Given the description of an element on the screen output the (x, y) to click on. 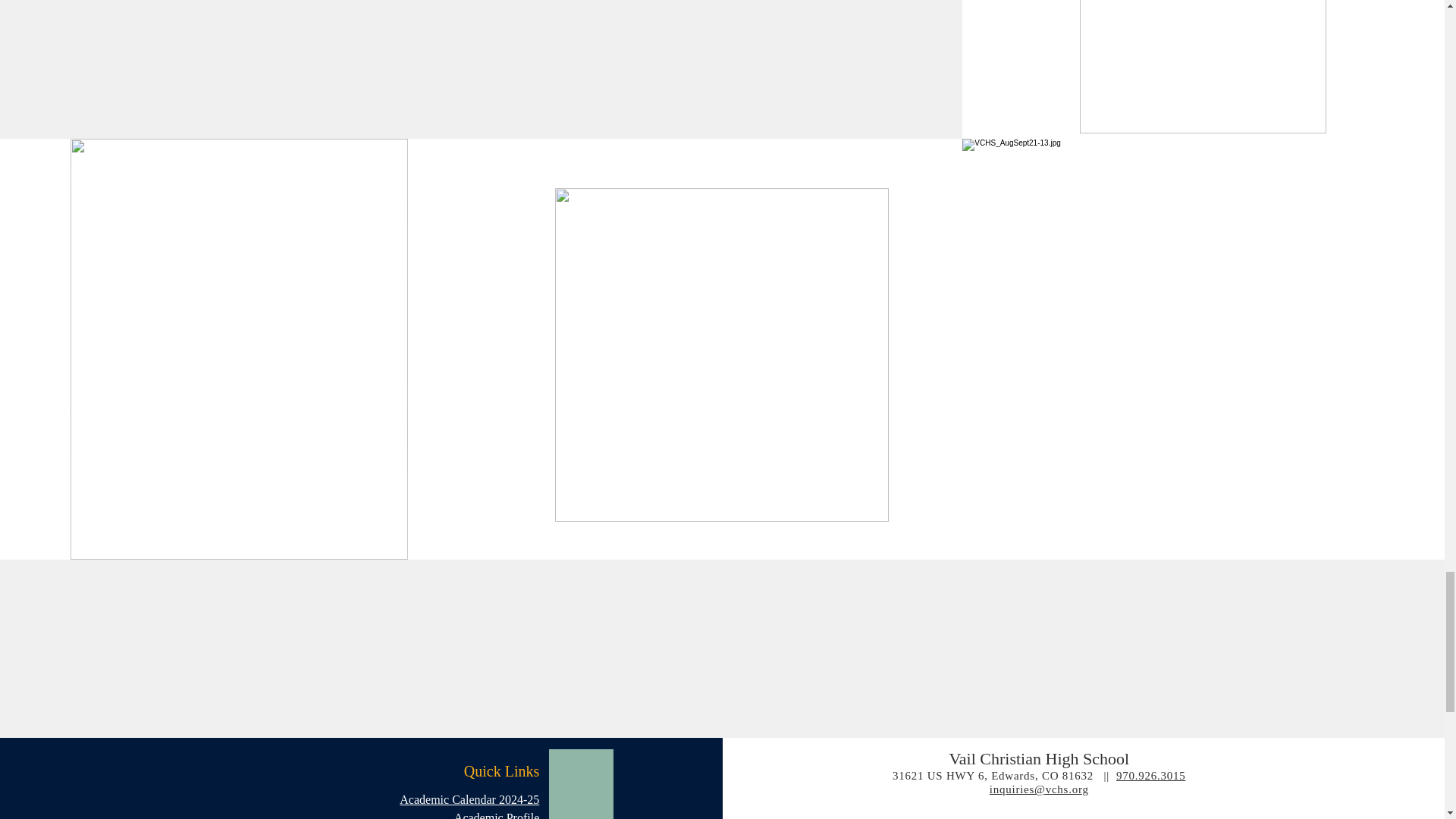
Academic Calendar 2024-25 (468, 799)
Copy of VCHS Admissions 2022 HIGHLIGHTS.png (1203, 66)
FOLLOW US!.gif (721, 354)
Academic Profile (496, 815)
